Given the description of an element on the screen output the (x, y) to click on. 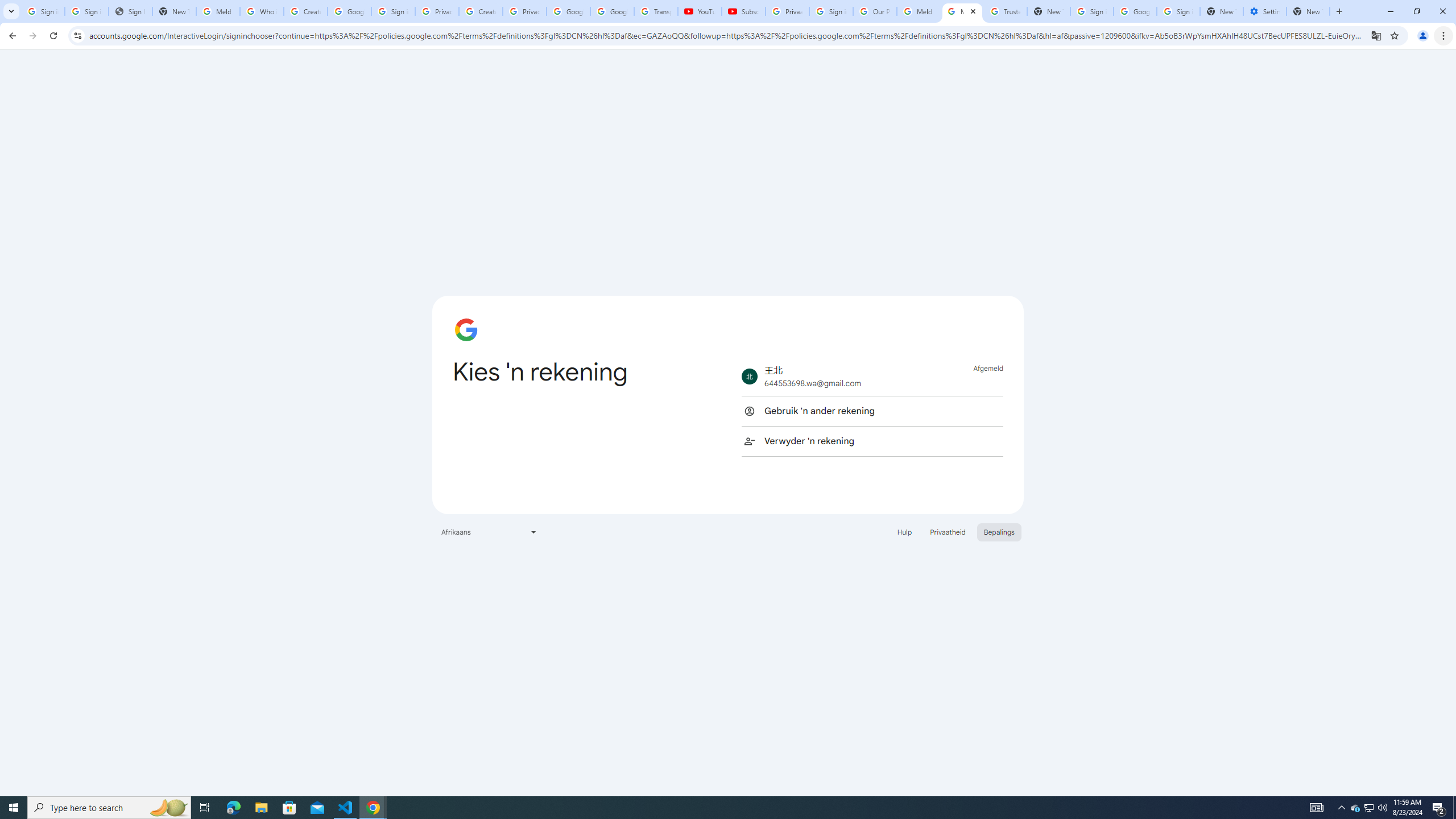
Hulp (903, 531)
Sign in - Google Accounts (1178, 11)
Who is my administrator? - Google Account Help (261, 11)
New Tab (1308, 11)
Settings - Addresses and more (1264, 11)
Sign in - Google Accounts (1091, 11)
Sign In - USA TODAY (130, 11)
